Given the description of an element on the screen output the (x, y) to click on. 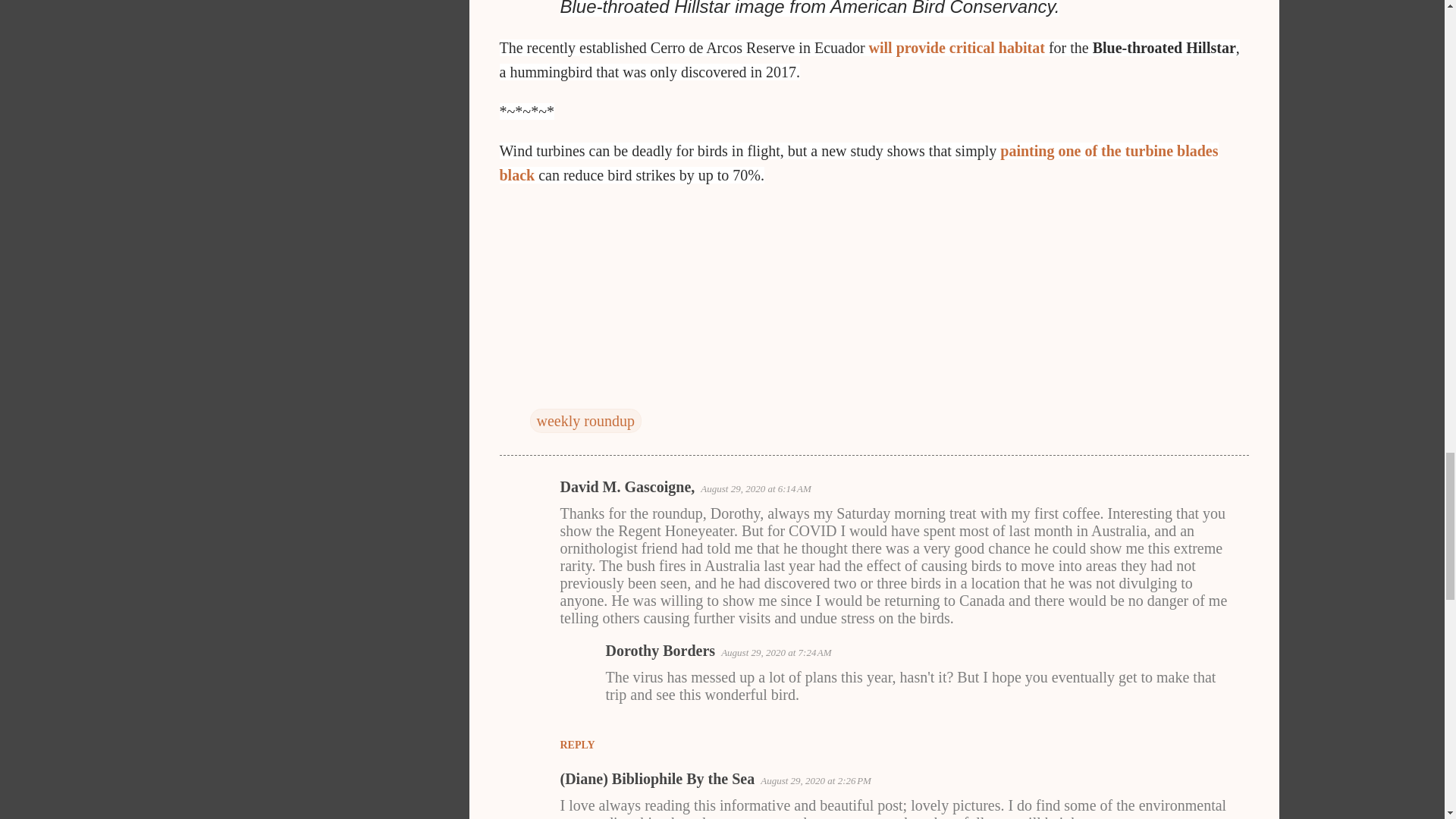
will provide critical habitat (957, 47)
weekly roundup (584, 420)
painting one of the turbine blades black (858, 162)
REPLY (576, 745)
David M. Gascoigne, (626, 486)
Dorothy Borders (659, 650)
